Given the description of an element on the screen output the (x, y) to click on. 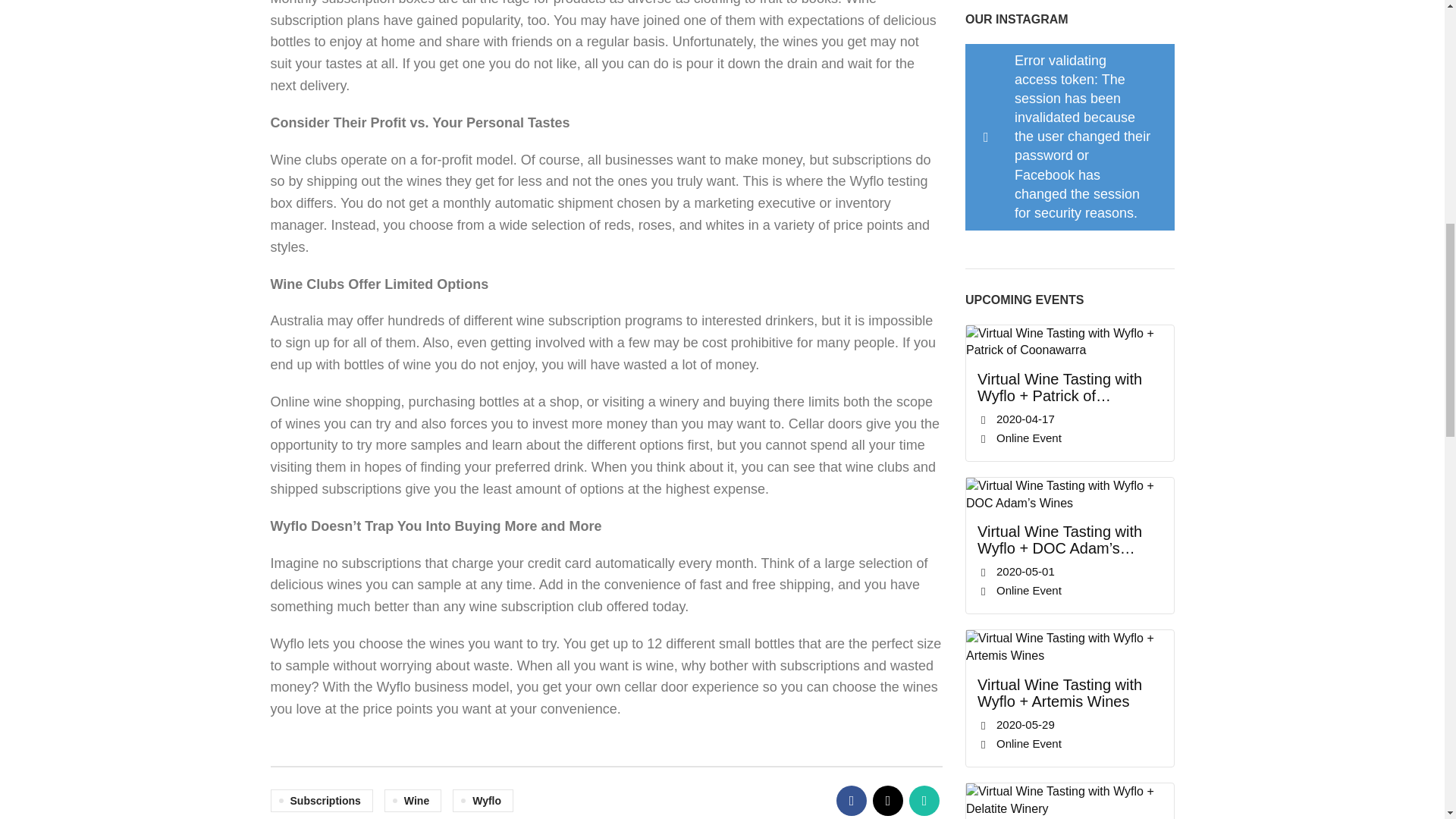
Wyflo (482, 800)
Subscriptions (320, 800)
Wine (412, 800)
